Given the description of an element on the screen output the (x, y) to click on. 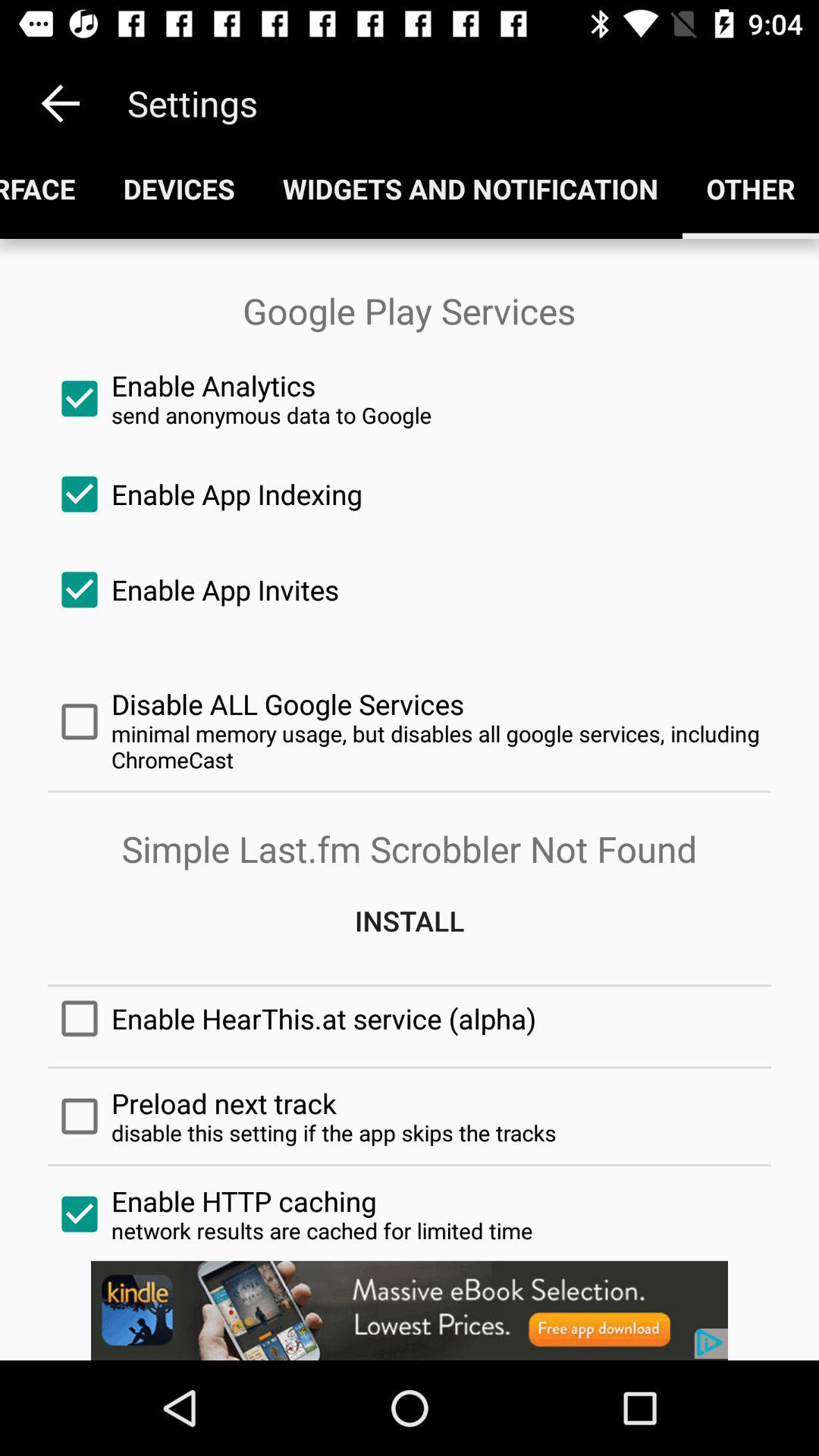
go to link in advertisement (409, 1310)
